Given the description of an element on the screen output the (x, y) to click on. 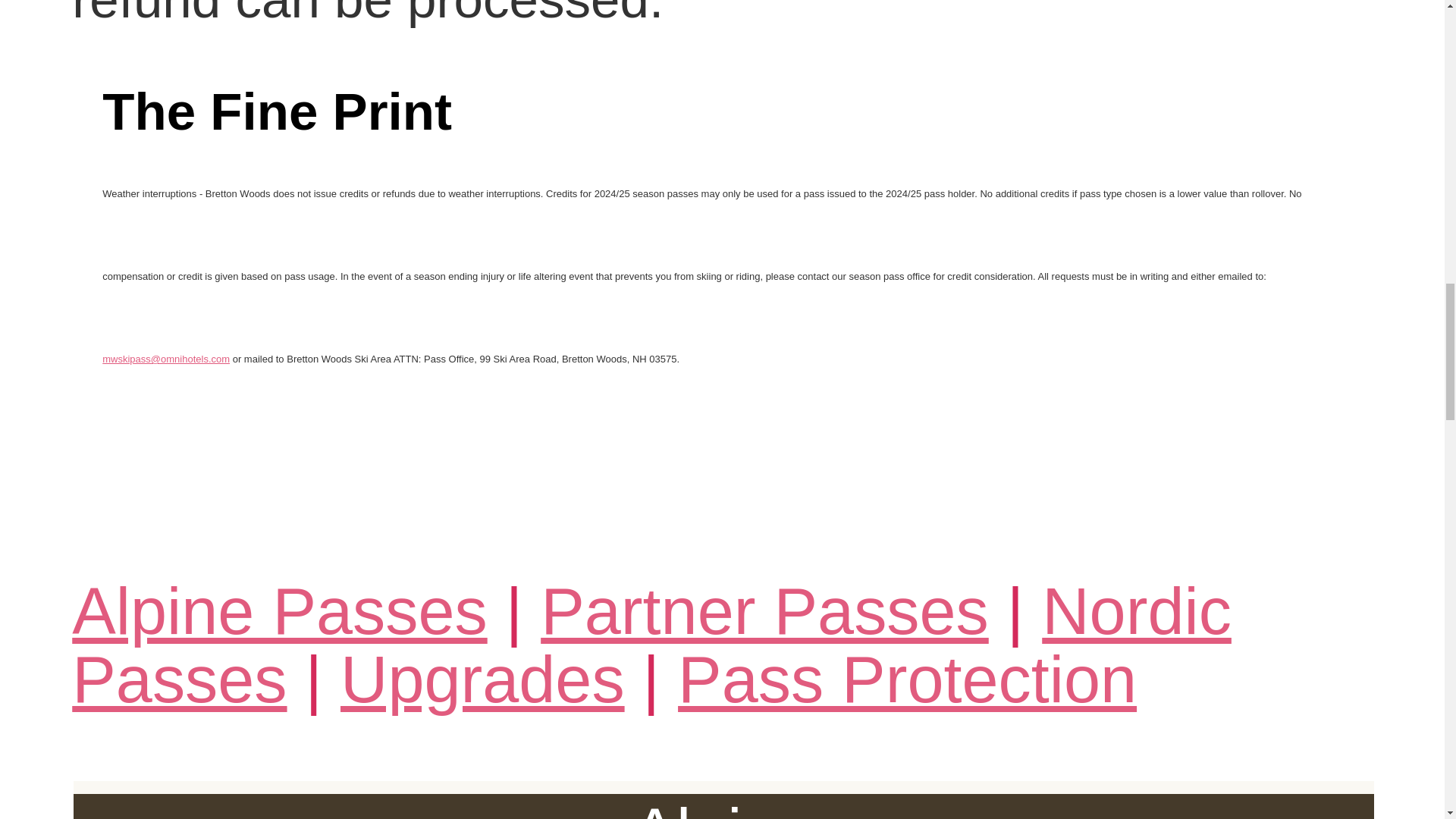
Upgrades (482, 678)
Alpine (724, 806)
Alpine Passes (278, 610)
Partner Passes (764, 610)
Pass Protection (907, 678)
